Given the description of an element on the screen output the (x, y) to click on. 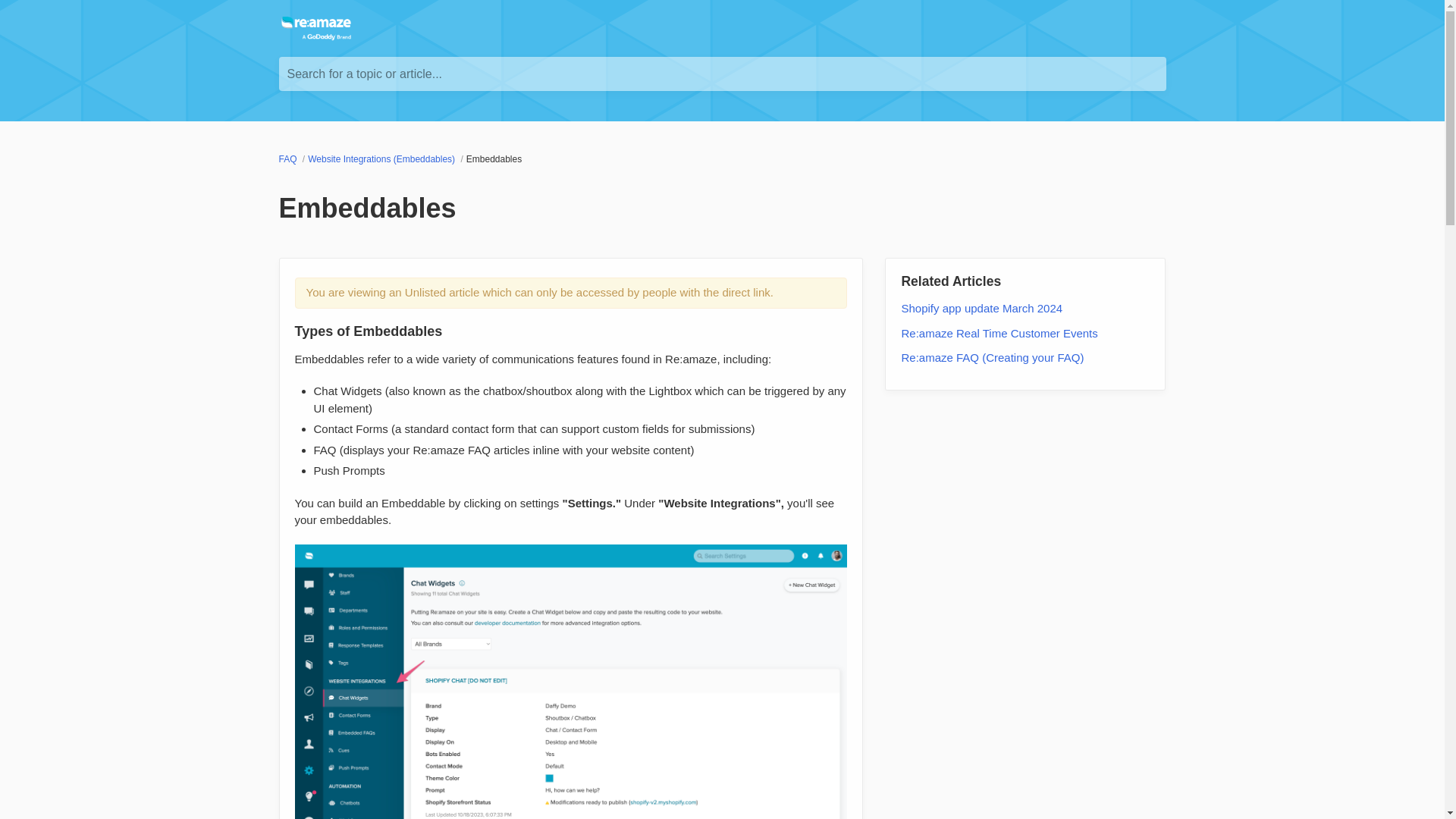
Re:amaze Real Time Customer Events (999, 332)
FAQ (289, 158)
Shopify app update March 2024 (981, 308)
